Given the description of an element on the screen output the (x, y) to click on. 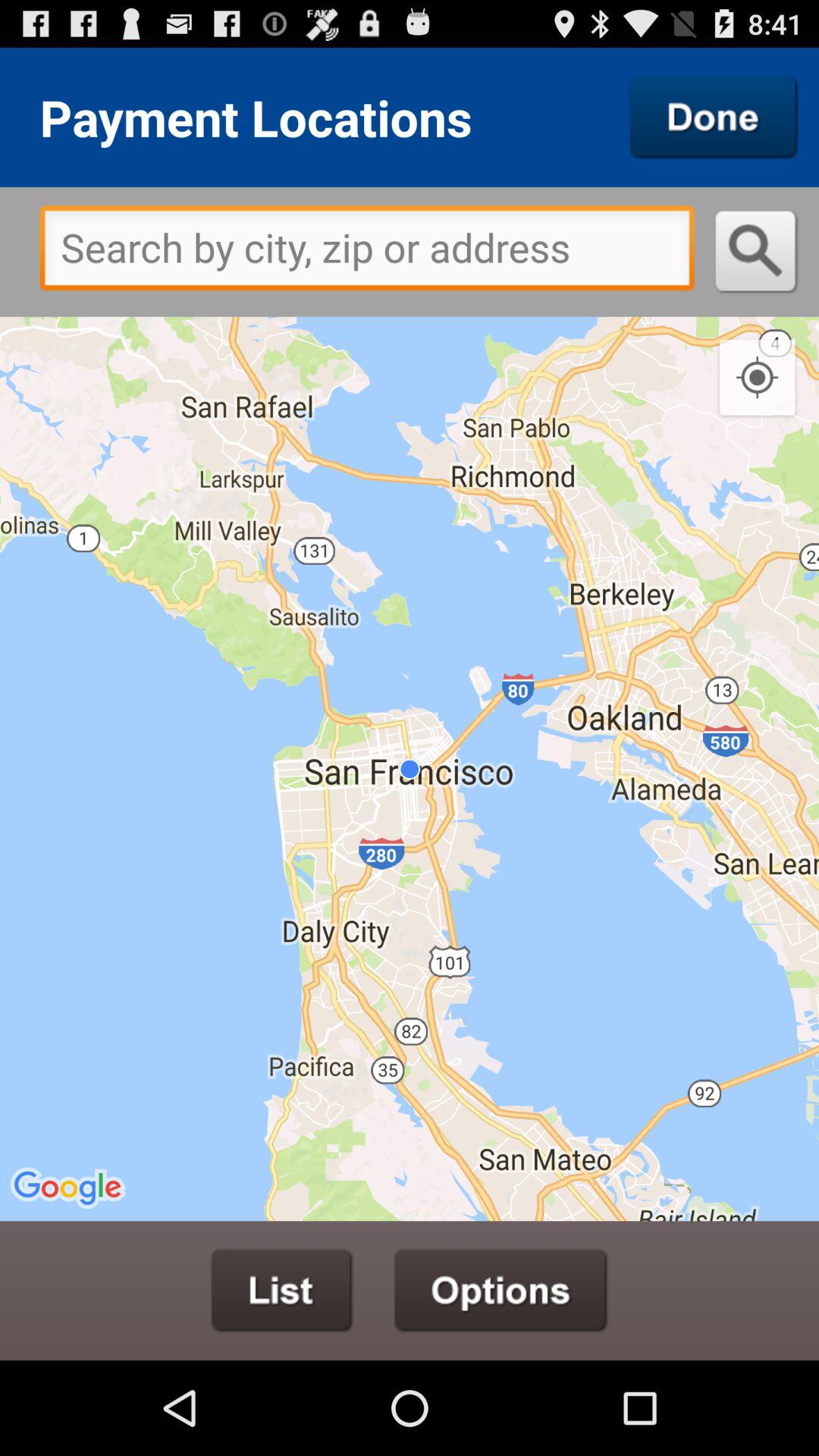
see list from map (281, 1290)
